Given the description of an element on the screen output the (x, y) to click on. 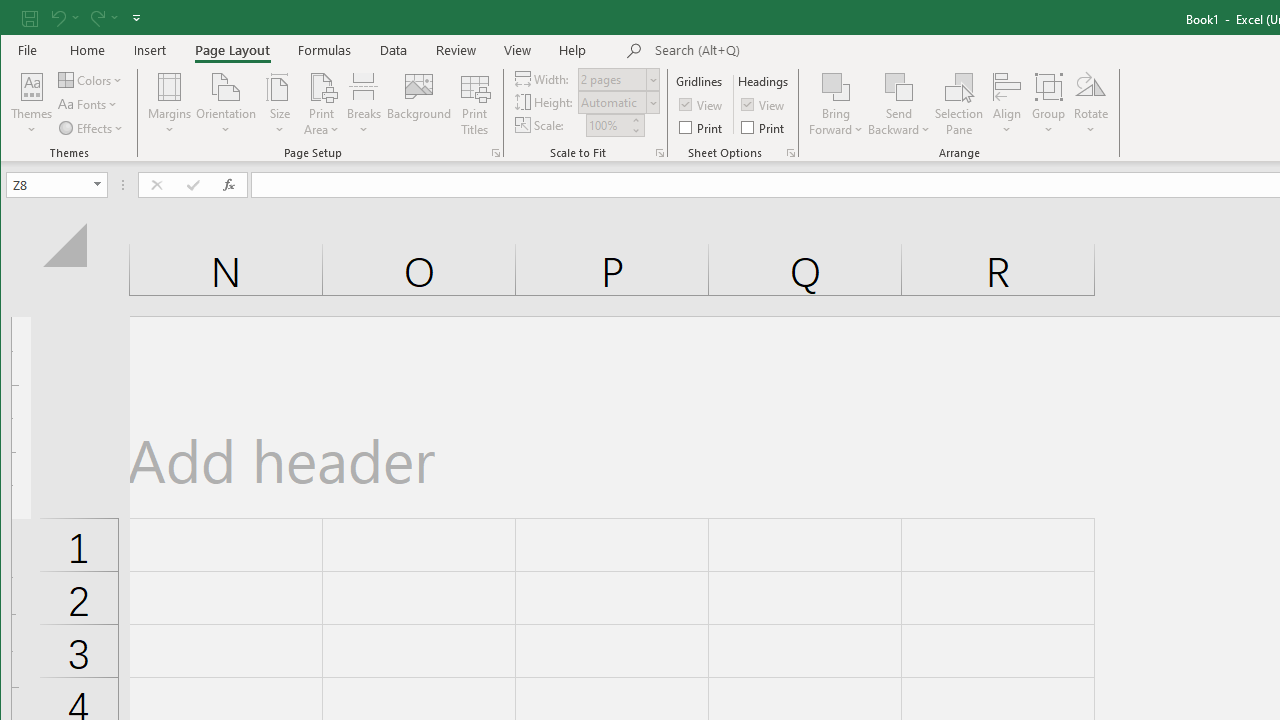
Send Backward (899, 86)
Print Area (321, 104)
More (635, 120)
Print Titles (475, 104)
Background... (419, 104)
Send Backward (899, 104)
Scale (607, 125)
Align (1006, 104)
